Given the description of an element on the screen output the (x, y) to click on. 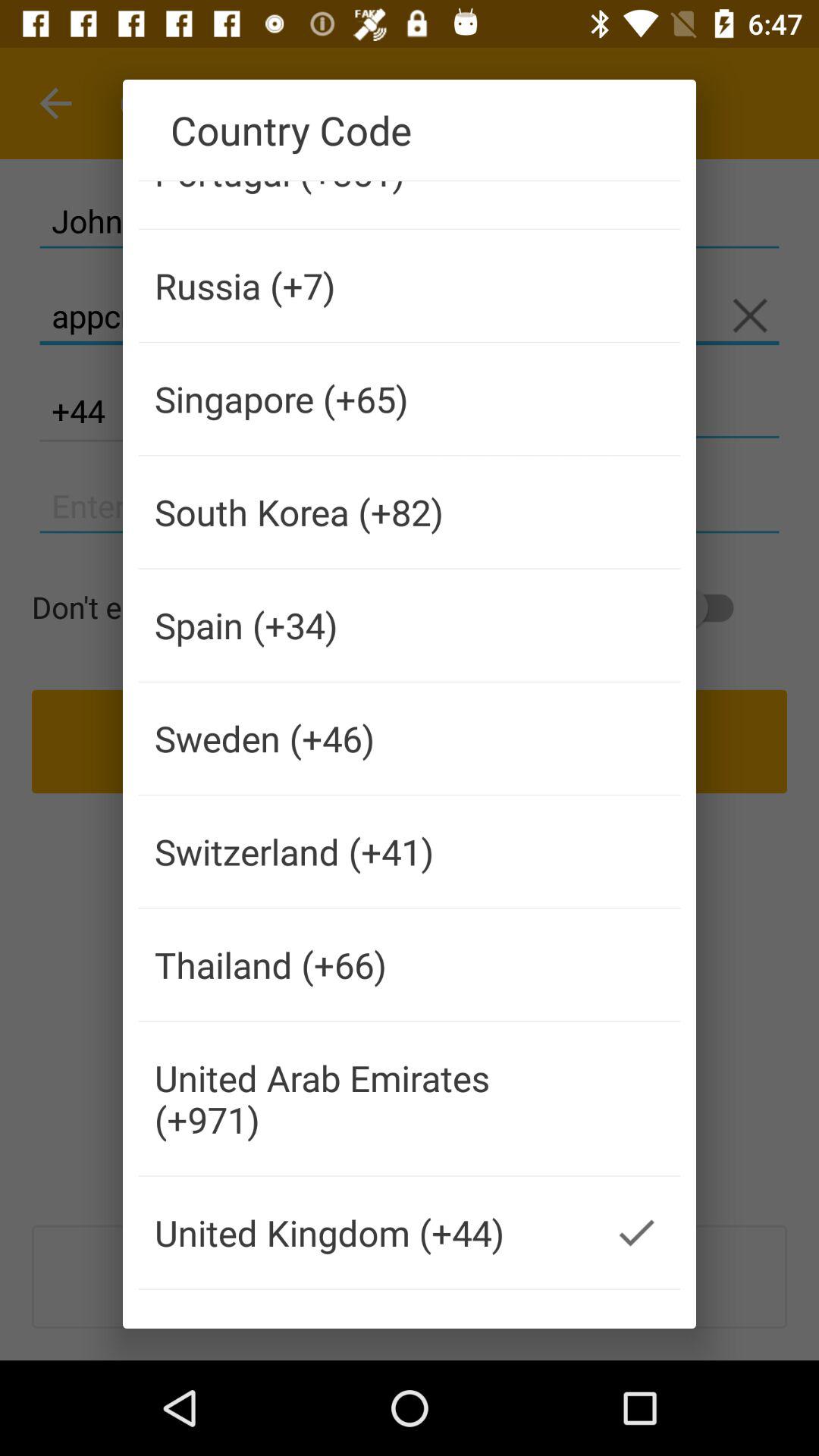
scroll until the sweden (+46) item (365, 738)
